Given the description of an element on the screen output the (x, y) to click on. 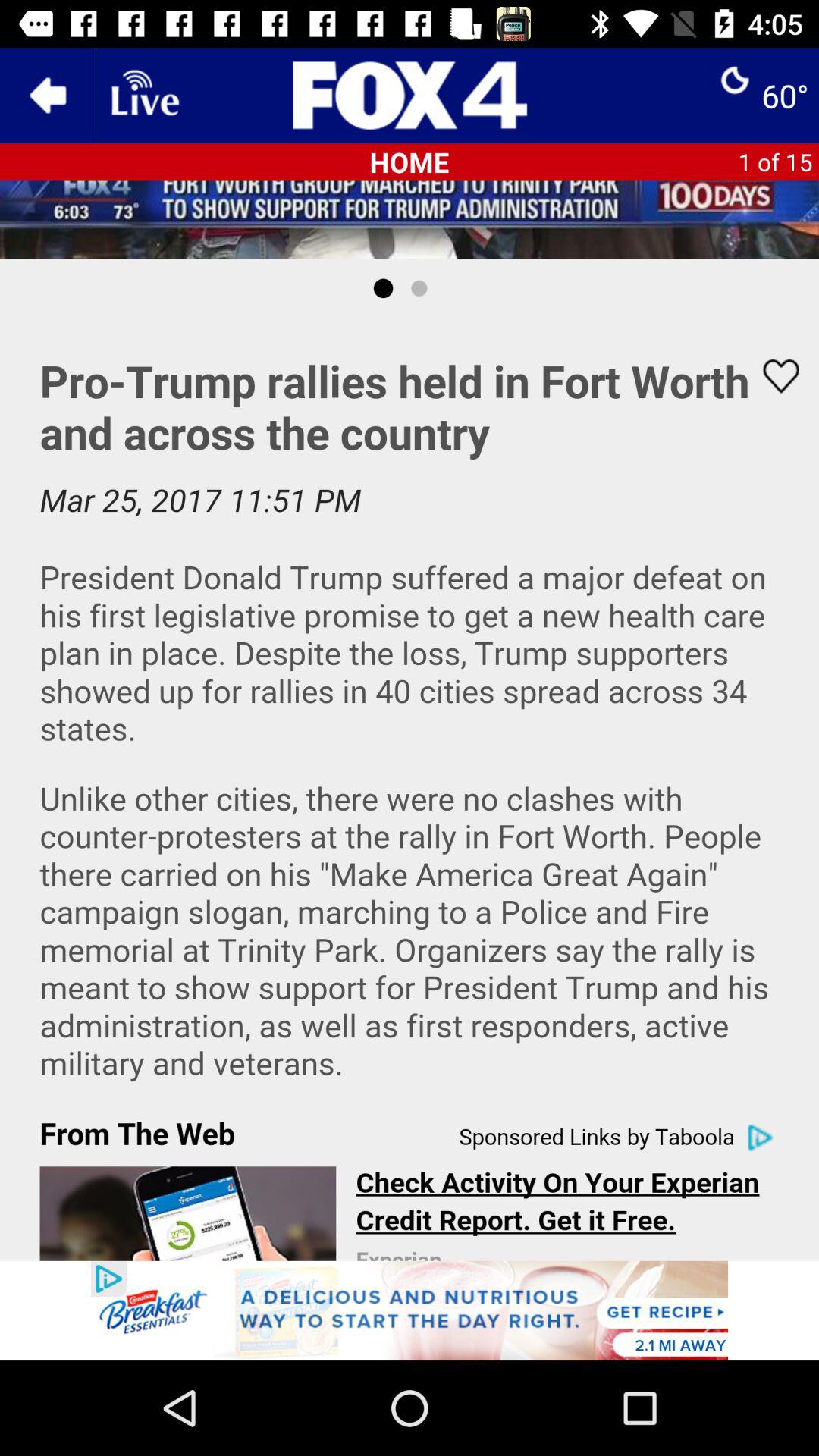
alive (143, 95)
